Given the description of an element on the screen output the (x, y) to click on. 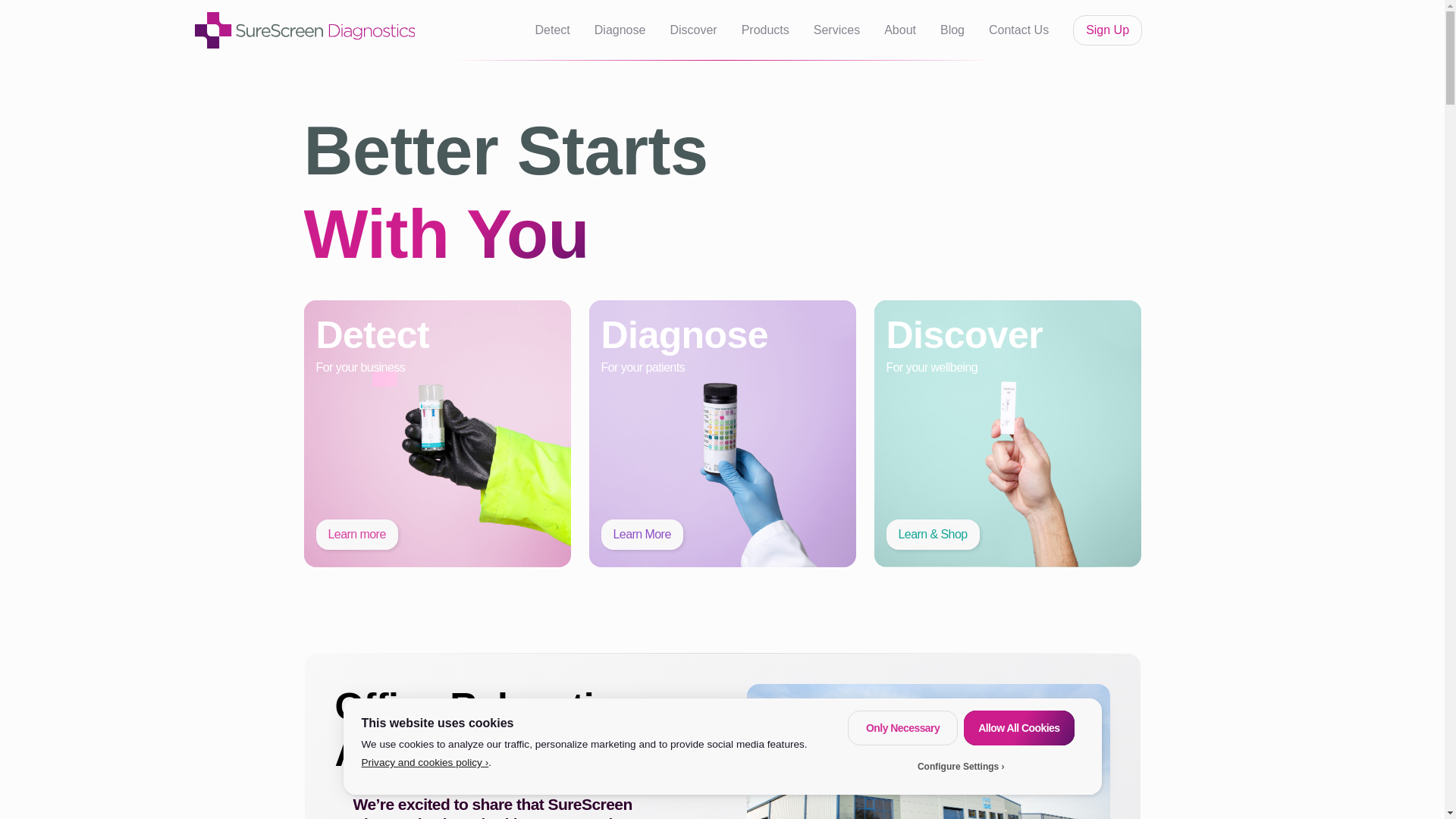
Diagnose (620, 30)
Blog (951, 30)
Learn More (640, 534)
Discover (692, 30)
Sign Up (1107, 30)
Contact Us (1018, 30)
Services (836, 30)
Products (765, 30)
Detect (552, 30)
Learn more (356, 534)
About (899, 30)
